Given the description of an element on the screen output the (x, y) to click on. 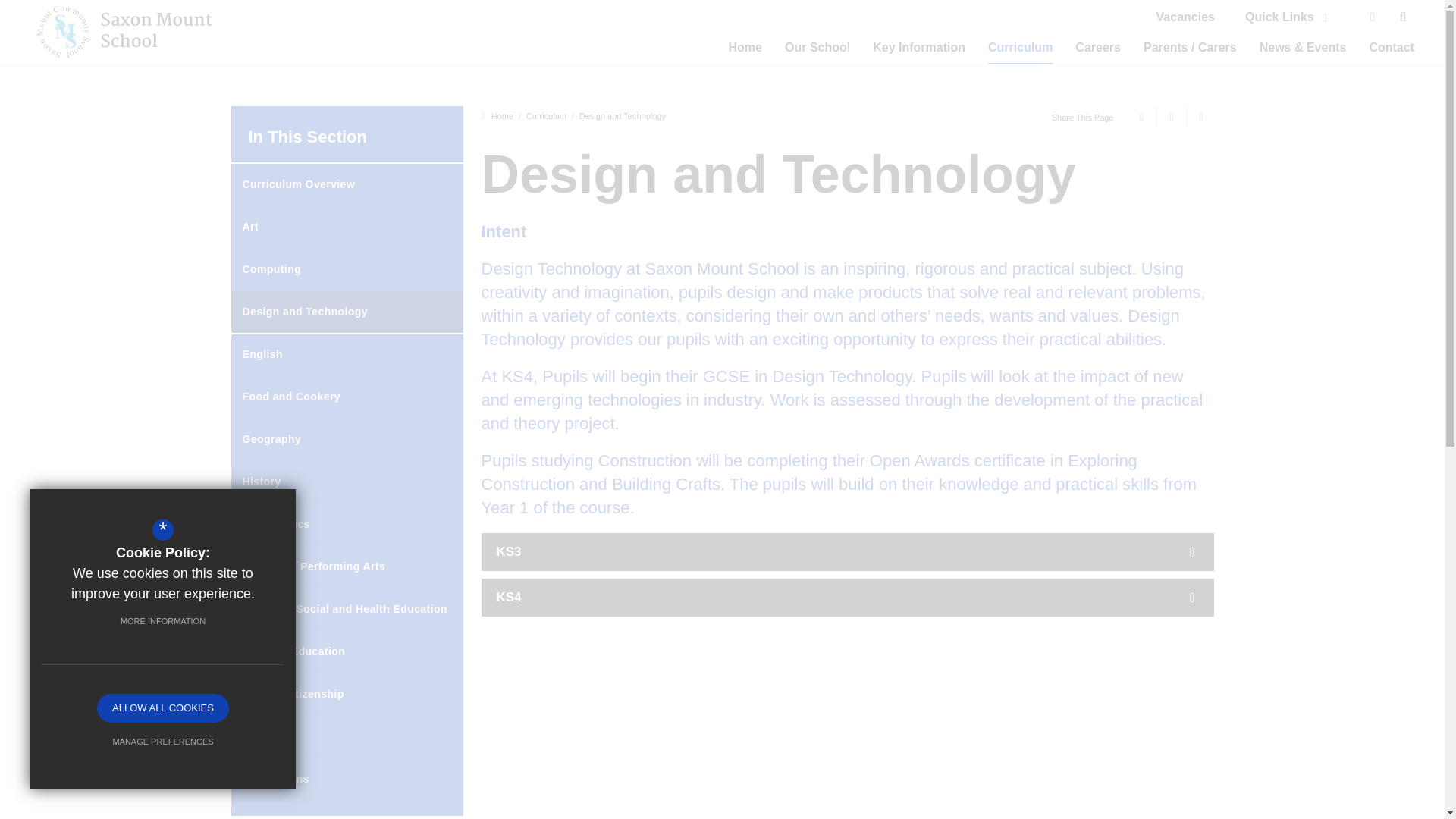
Email this page (1199, 117)
 Saxon Mount School (135, 32)
Quick Links (1285, 16)
Our School (817, 47)
Vacancies (1190, 17)
Home (745, 47)
Curriculum (1020, 47)
Key Information (918, 47)
Share on Facebook (1139, 117)
Cookie Settings (162, 531)
